Given the description of an element on the screen output the (x, y) to click on. 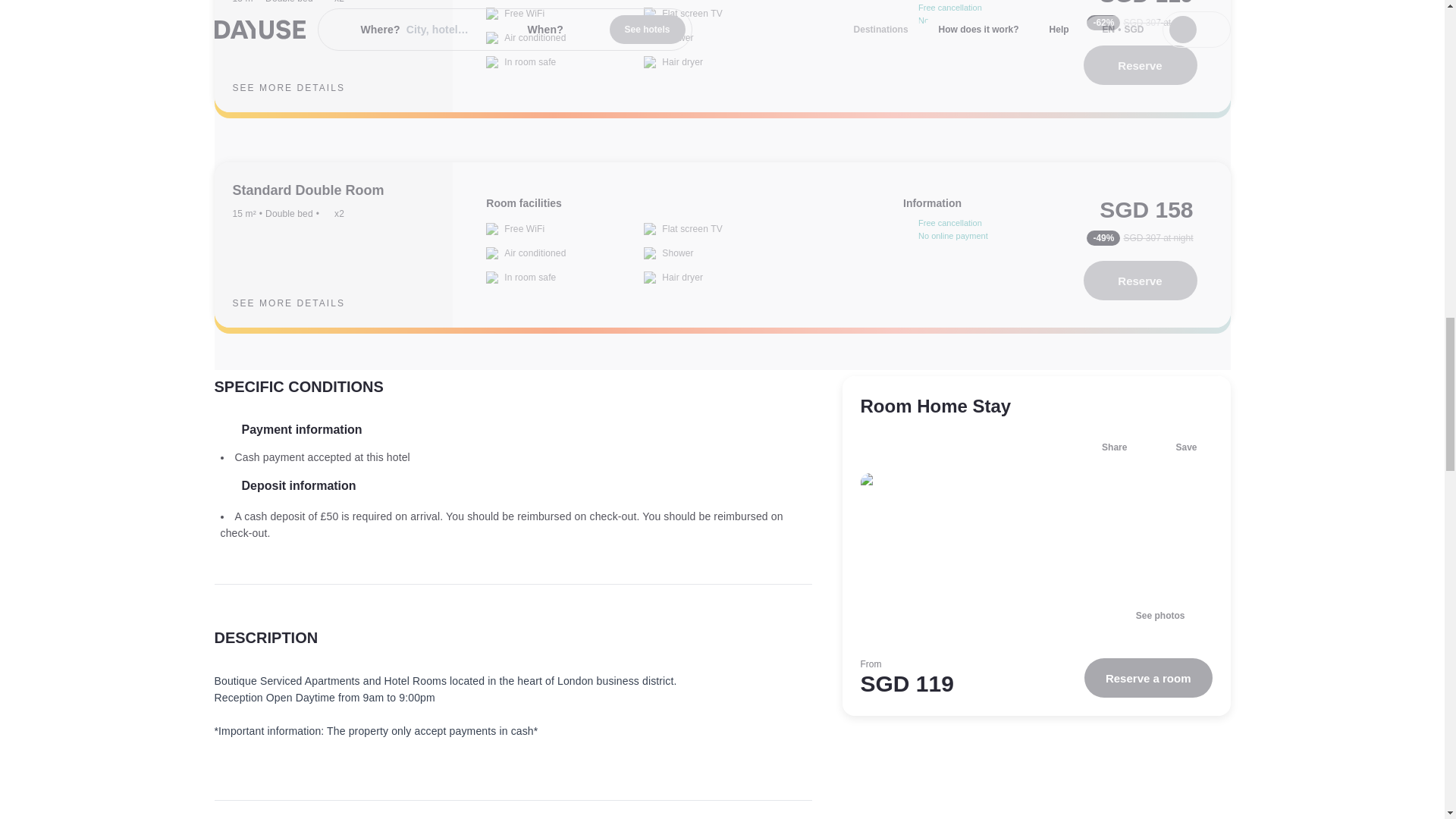
SEE MORE DETAILS (300, 303)
Reserve (1139, 280)
Reserve (1139, 65)
SEE MORE DETAILS (300, 87)
